Given the description of an element on the screen output the (x, y) to click on. 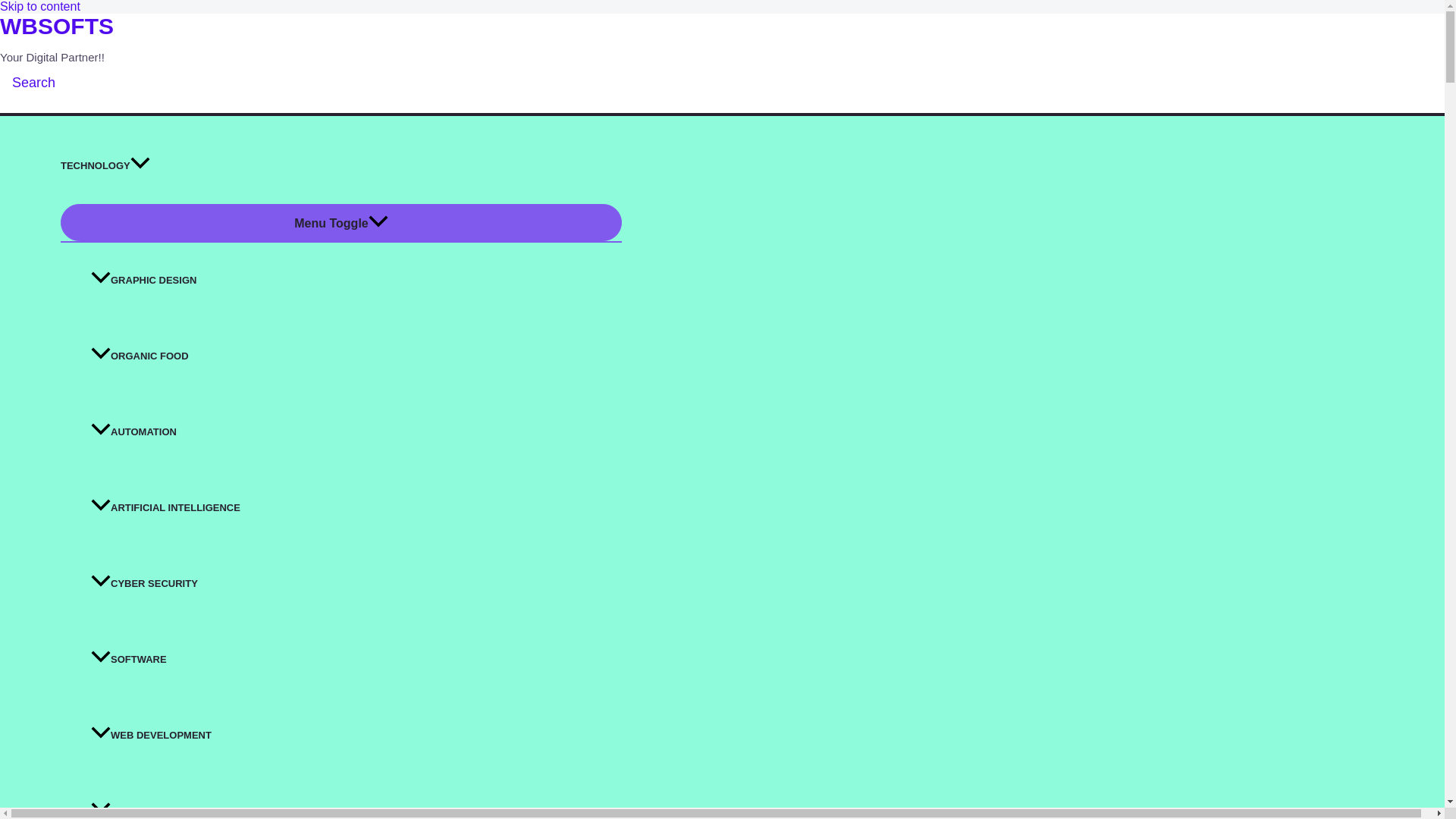
Skip to content (40, 6)
GRAPHIC DESIGN (355, 280)
Skip to content (40, 6)
TECHNOLOGY (341, 165)
AUTOMATION (355, 431)
ARTIFICIAL INTELLIGENCE (355, 508)
SOFTWARE (355, 659)
WBSOFTS (56, 25)
Menu Toggle (341, 221)
WEB DEVELOPMENT (355, 735)
WORDPRESS (355, 796)
ORGANIC FOOD (355, 355)
CYBER SECURITY (355, 583)
Search (33, 82)
